Given the description of an element on the screen output the (x, y) to click on. 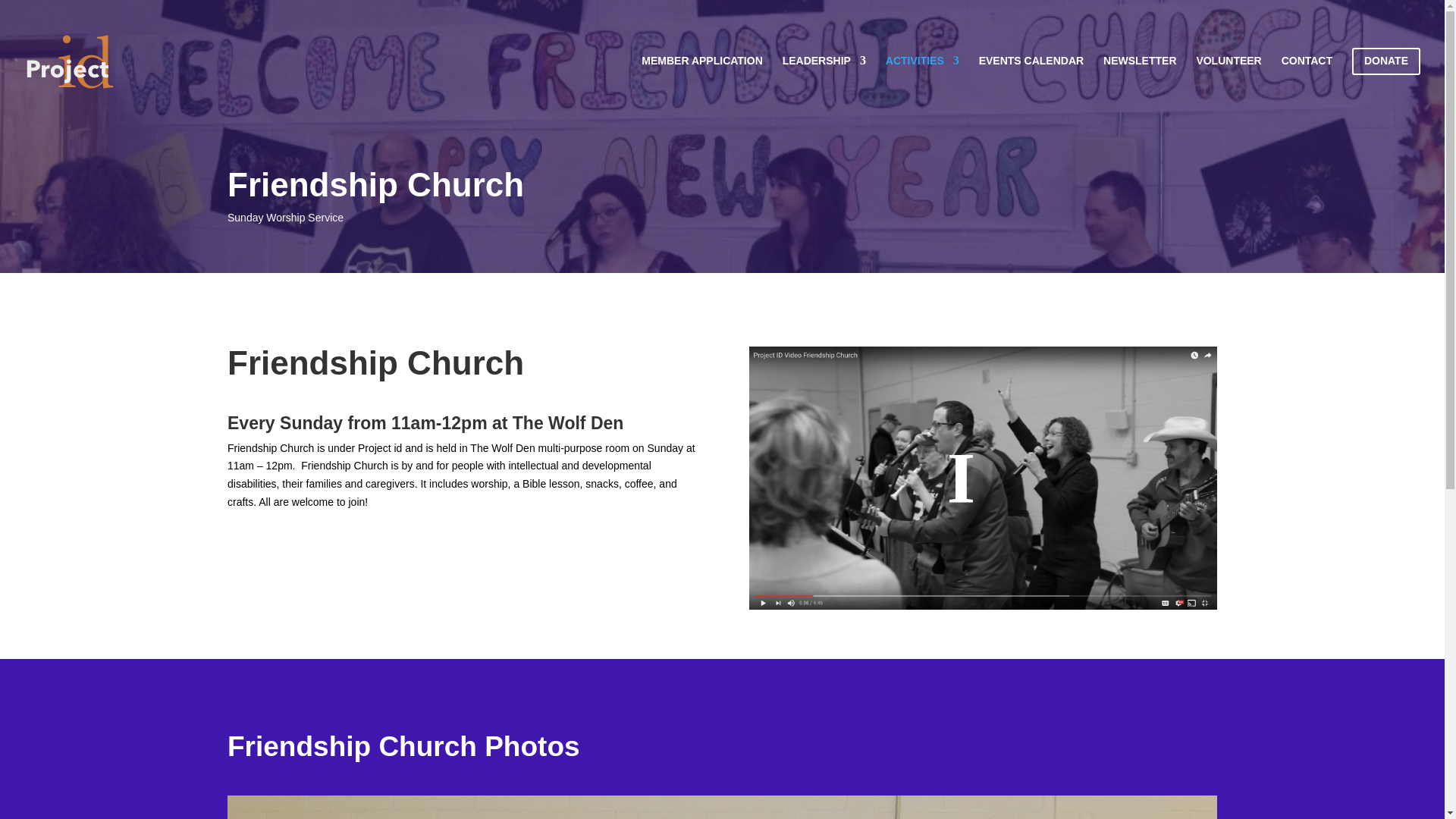
VOLUNTEER (1227, 84)
DONATE (1386, 84)
ACTIVITIES (922, 84)
MEMBER APPLICATION (701, 84)
NEWSLETTER (1139, 84)
EVENTS CALENDAR (1030, 84)
Project ID Video Friendship Church (983, 477)
LEADERSHIP (824, 84)
